Given the description of an element on the screen output the (x, y) to click on. 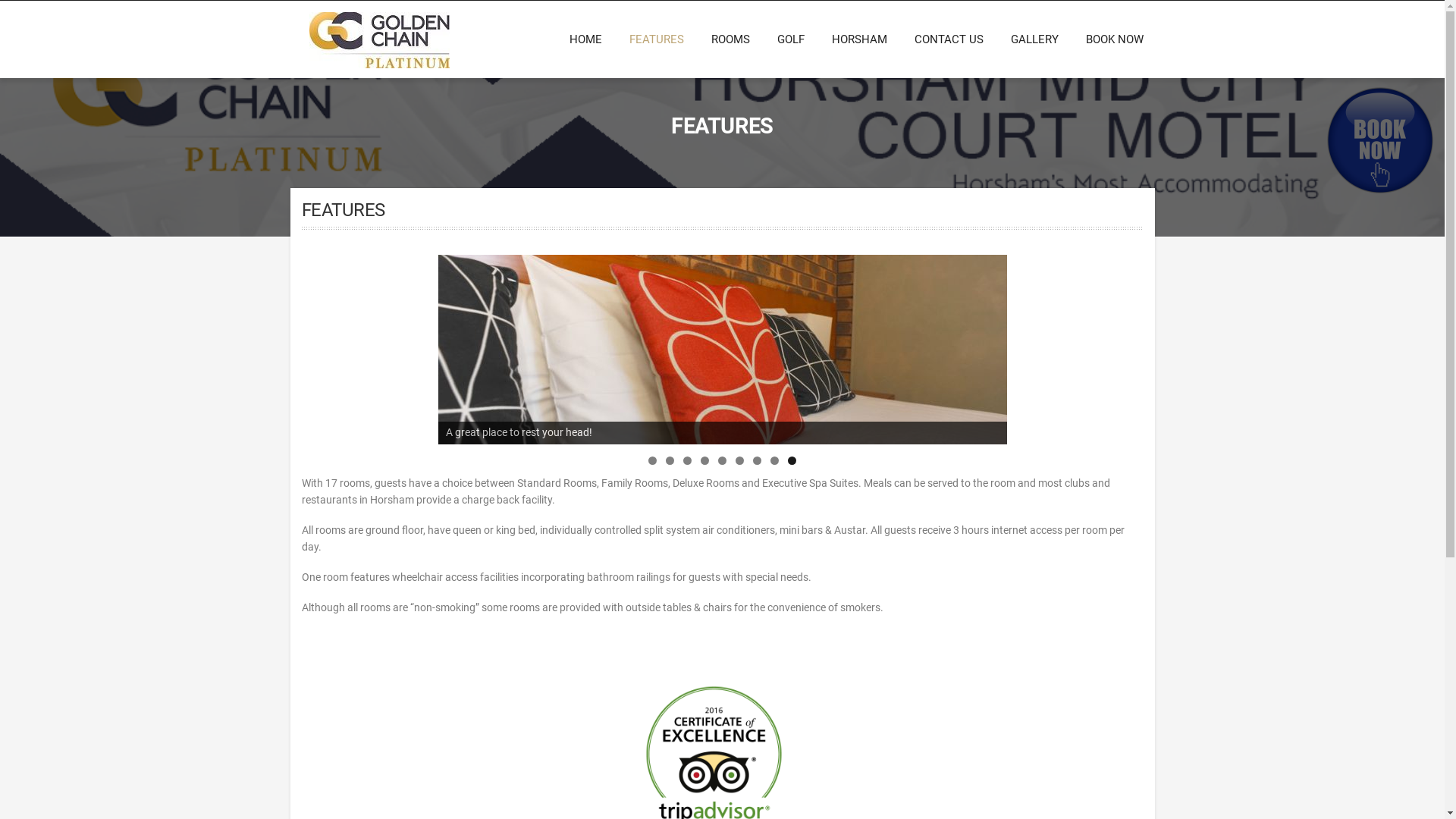
8 Element type: text (774, 460)
GALLERY Element type: text (1033, 39)
9 Element type: text (791, 460)
Horsham Mid_City Motel Beds Element type: hover (722, 349)
HORSHAM MID-CITY COURT MOTEL Element type: text (506, 78)
5 Element type: text (722, 460)
6 Element type: text (739, 460)
4 Element type: text (704, 460)
HOME Element type: text (585, 39)
ROOMS Element type: text (730, 39)
BOOK NOW Element type: text (1107, 39)
7 Element type: text (757, 460)
3 Element type: text (687, 460)
FEATURES Element type: text (656, 39)
1 Element type: text (652, 460)
HORSHAM Element type: text (858, 39)
2 Element type: text (669, 460)
CONTACT US Element type: text (948, 39)
GOLF Element type: text (789, 39)
